Given the description of an element on the screen output the (x, y) to click on. 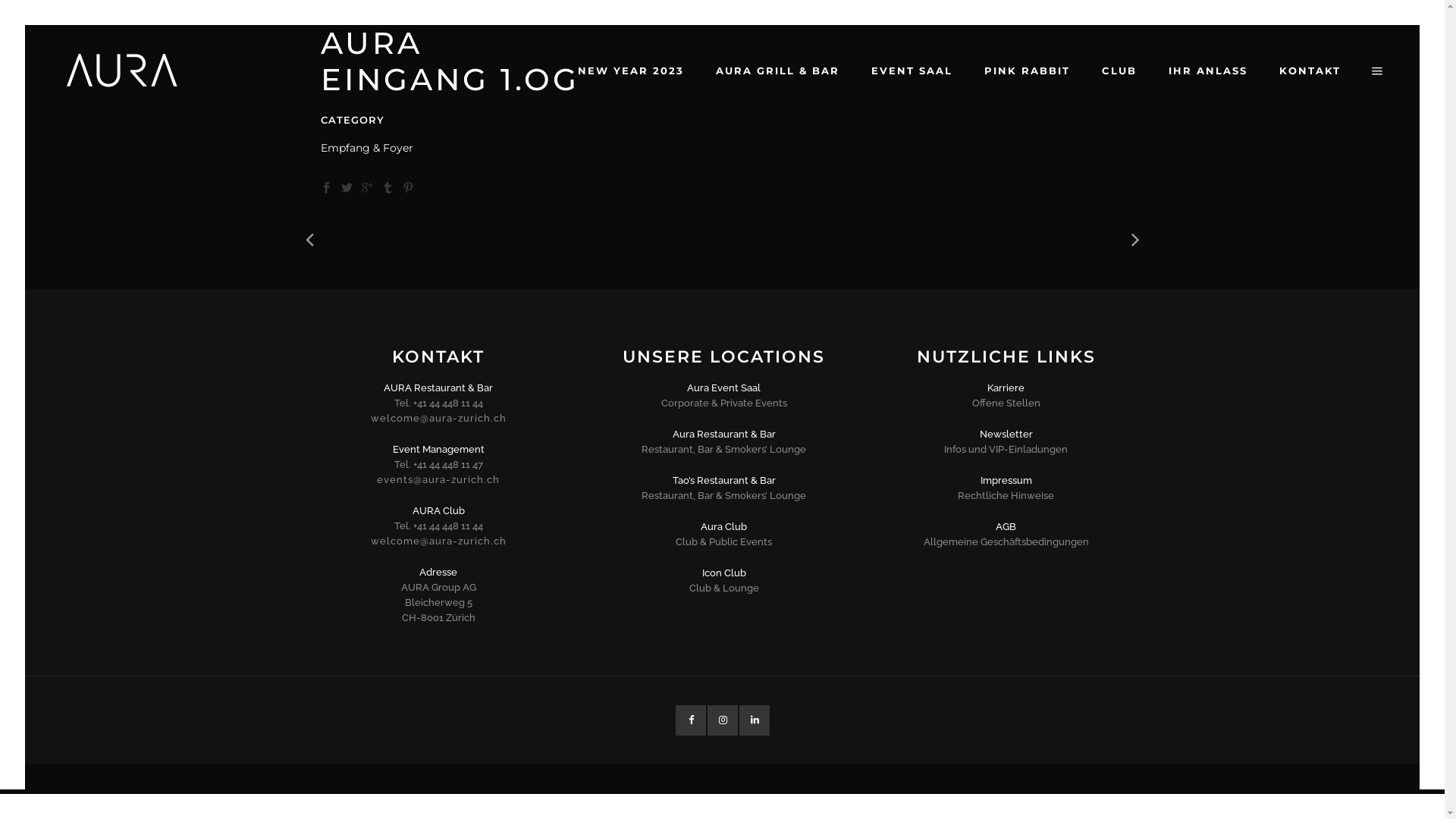
Impressum
Rechtliche Hinweise Element type: text (1005, 488)
Aura Event Saal
Corporate & Private Events Element type: text (723, 395)
welcome@aura-zurich.ch Element type: text (438, 540)
AURA GRILL & BAR Element type: text (777, 70)
Karriere
Offene Stellen Element type: text (1005, 395)
Share on Twitter Element type: hover (346, 186)
events@aura-zurich.ch Element type: text (437, 479)
Aura Club
Club & Public Events Element type: text (723, 534)
IHR ANLASS Element type: text (1207, 70)
Share on Pinterest Element type: hover (407, 186)
NEW YEAR 2023 Element type: text (630, 70)
KONTAKT Element type: text (1309, 70)
Icon Club
Club & Lounge Element type: text (723, 580)
EVENT SAAL Element type: text (911, 70)
Newsletter
Infos und VIP-Einladungen Element type: text (1005, 441)
PINK RABBIT Element type: text (1026, 70)
Share on Tumblr Element type: hover (387, 186)
Share on Google+ Element type: hover (366, 186)
welcome@aura-zurich.ch Element type: text (438, 417)
CLUB Element type: text (1119, 70)
Share on Facebook Element type: hover (325, 186)
